Given the description of an element on the screen output the (x, y) to click on. 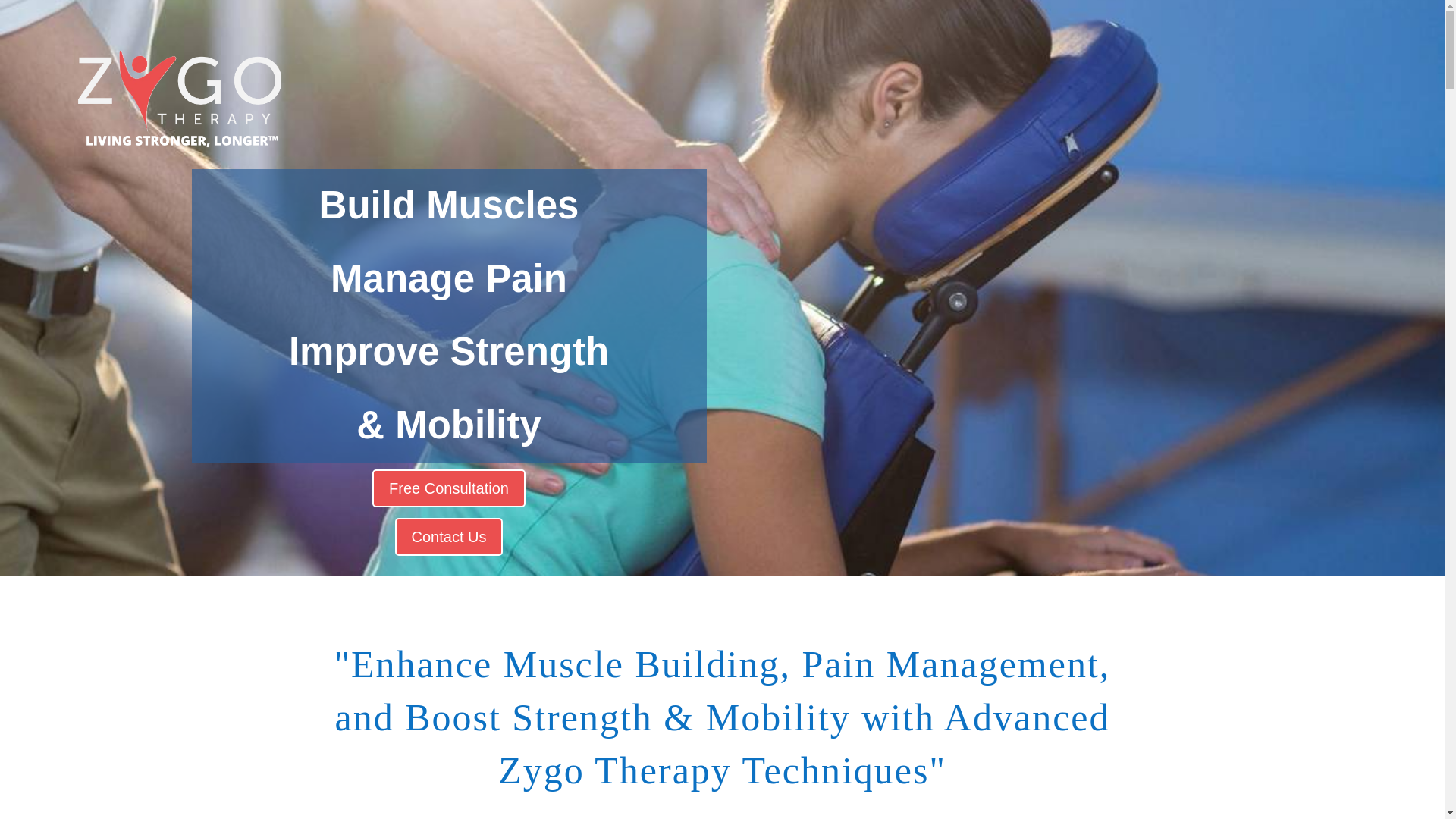
Contact Us (448, 536)
Free Consultation (448, 487)
3-3.png (179, 98)
